Given the description of an element on the screen output the (x, y) to click on. 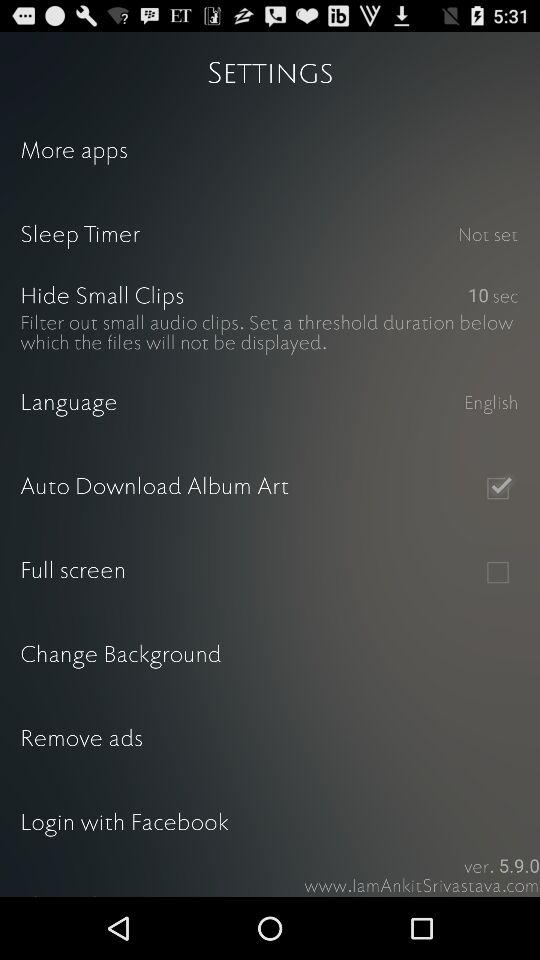
select icon above change background icon (497, 572)
